Given the description of an element on the screen output the (x, y) to click on. 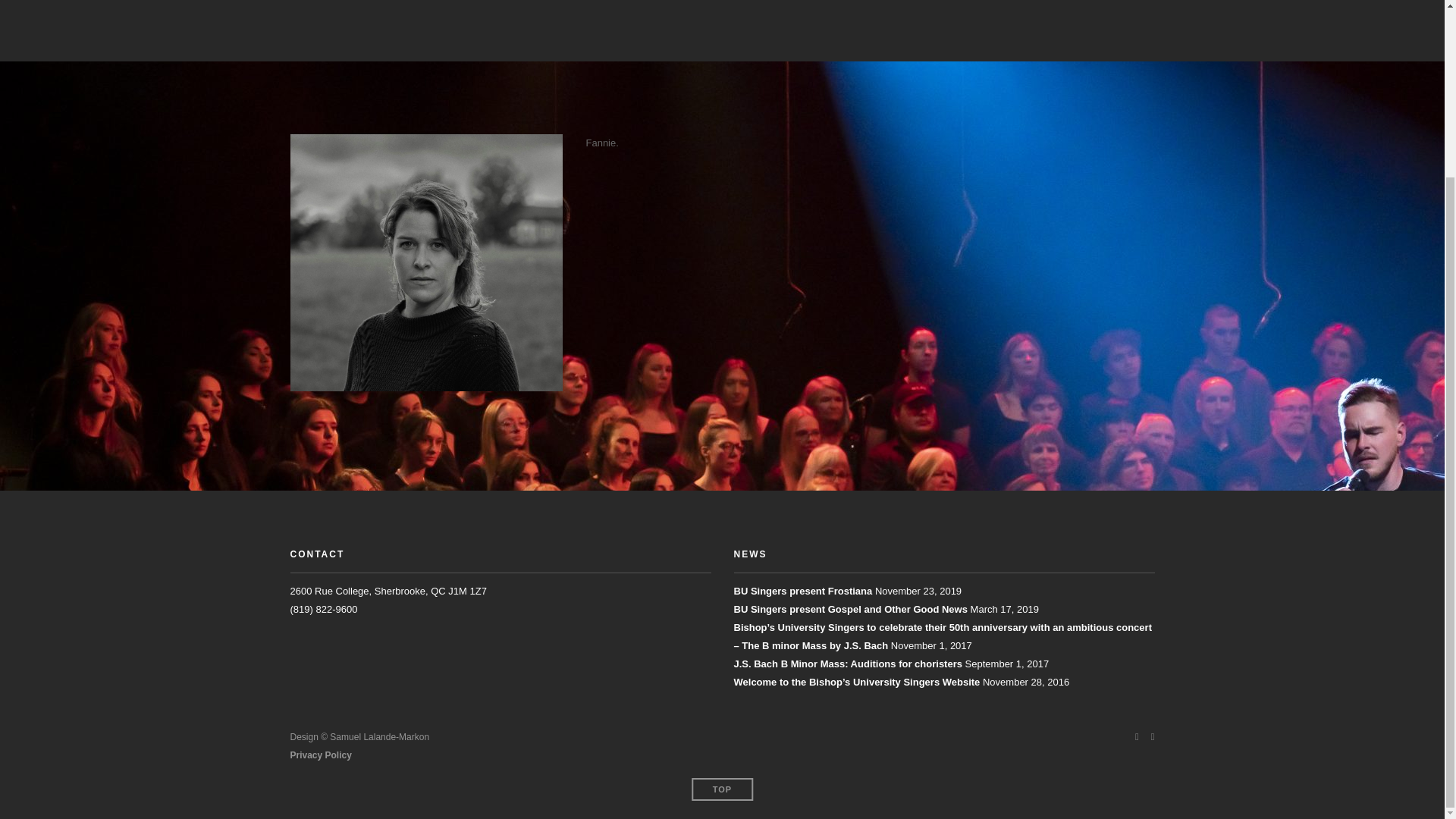
Privacy Policy (319, 755)
TOP (721, 789)
J.S. Bach B Minor Mass: Auditions for choristers (847, 663)
BU Singers present Gospel and Other Good News (850, 609)
BU Singers present Frostiana (802, 591)
